Given the description of an element on the screen output the (x, y) to click on. 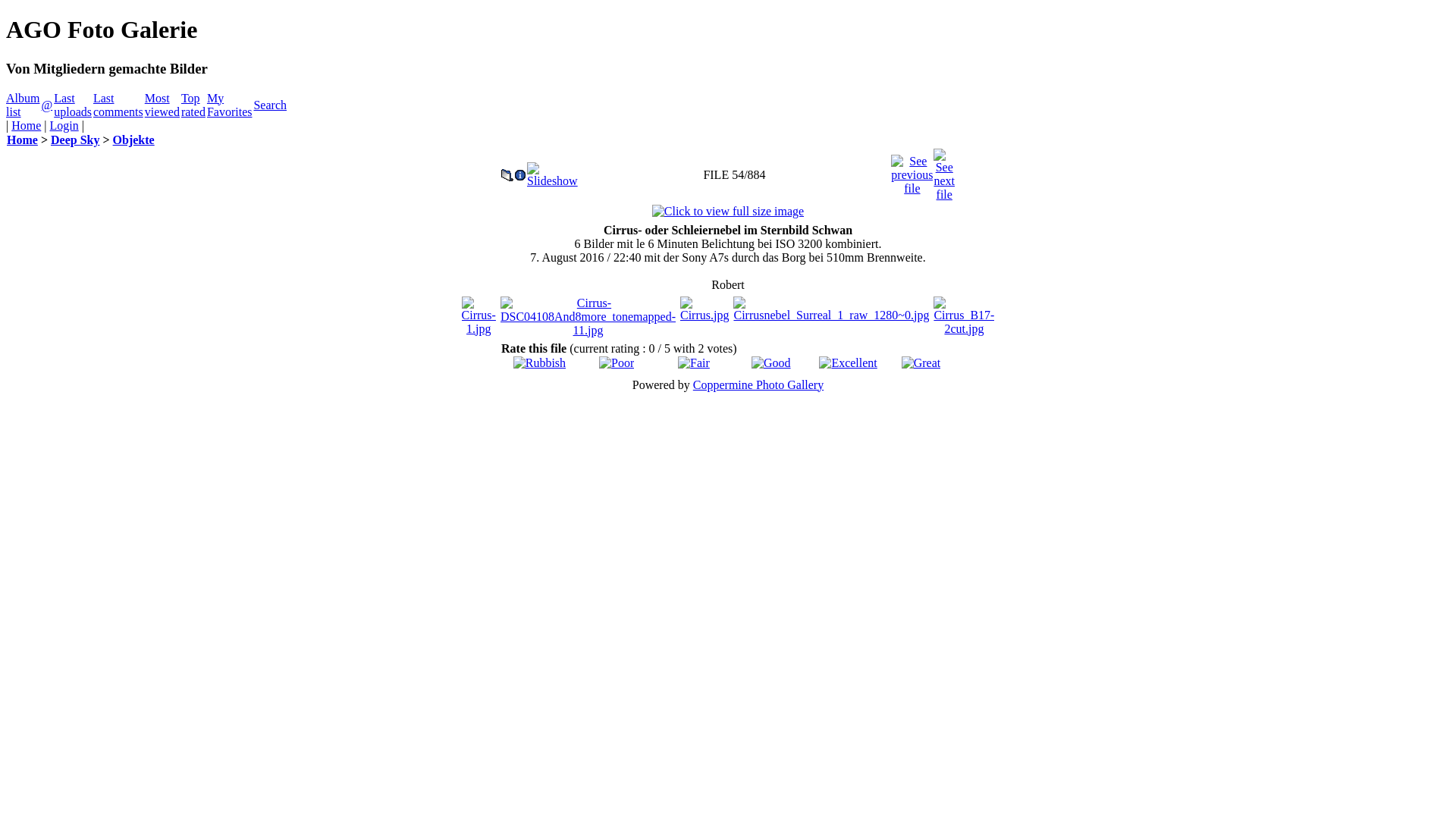
Display/hide file information Element type: hover (520, 170)
Album list Element type: text (22, 104)
Most viewed Element type: text (161, 104)
Deep Sky Element type: text (74, 139)
Slideshow Element type: hover (552, 170)
Home Element type: text (21, 139)
See next file Element type: hover (943, 170)
Coppermine Photo Gallery Element type: text (758, 384)
Return to the thumbnail page Element type: hover (507, 170)
Home Element type: text (25, 125)
Login Element type: text (64, 125)
Last comments Element type: text (118, 104)
Fair Element type: hover (693, 362)
Last uploads Element type: text (72, 104)
Rubbish Element type: hover (539, 362)
Top rated Element type: text (193, 104)
See previous file Element type: hover (911, 170)
Poor Element type: hover (616, 362)
Excellent Element type: hover (847, 362)
Good Element type: hover (770, 362)
My Favorites Element type: text (229, 104)
Great Element type: hover (921, 362)
Search Element type: text (269, 104)
@ Element type: text (46, 104)
Objekte Element type: text (133, 139)
